Given the description of an element on the screen output the (x, y) to click on. 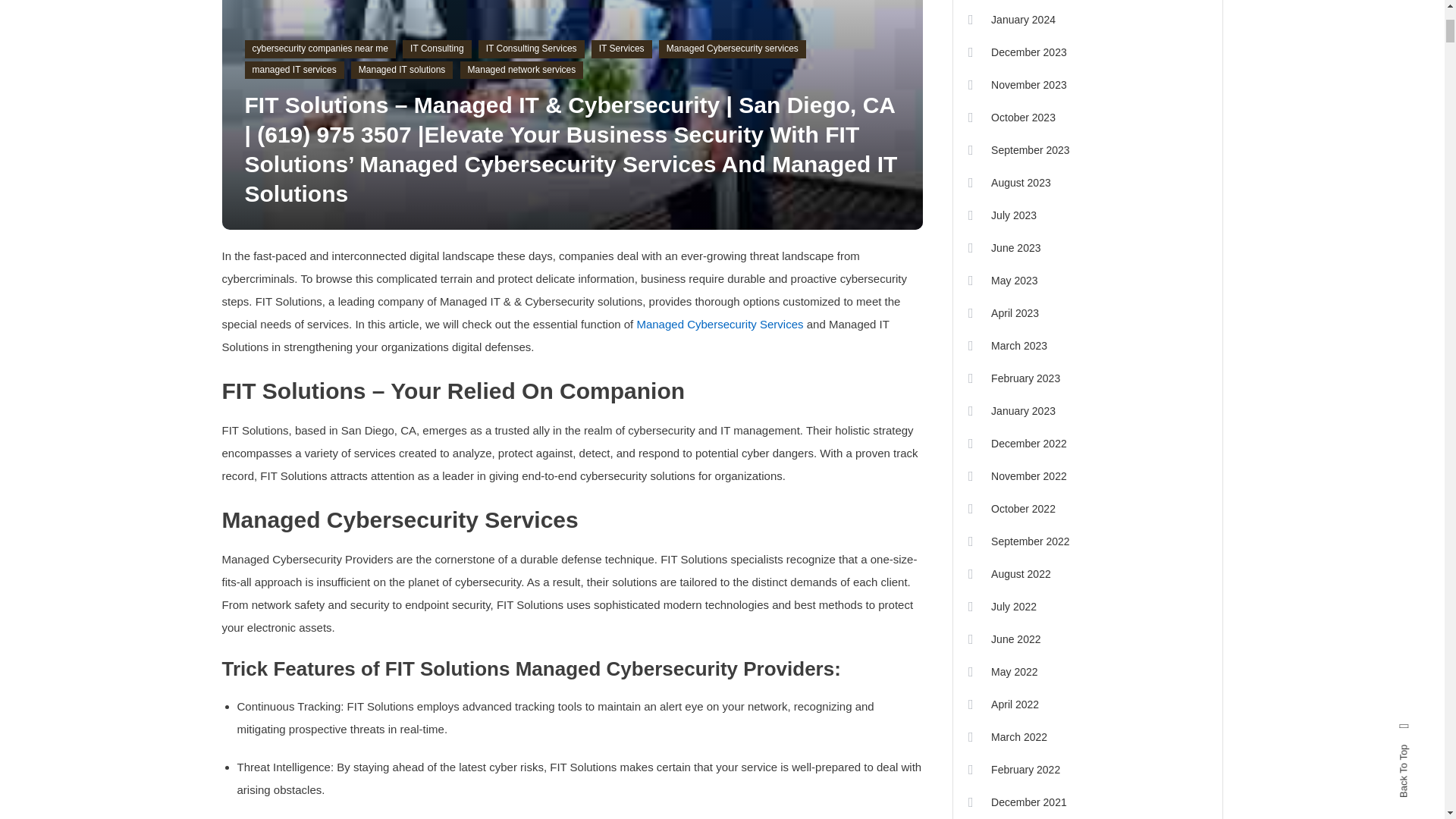
IT Consulting Services (532, 49)
IT Consulting (436, 49)
cybersecurity companies near me (319, 49)
IT Services (621, 49)
